Given the description of an element on the screen output the (x, y) to click on. 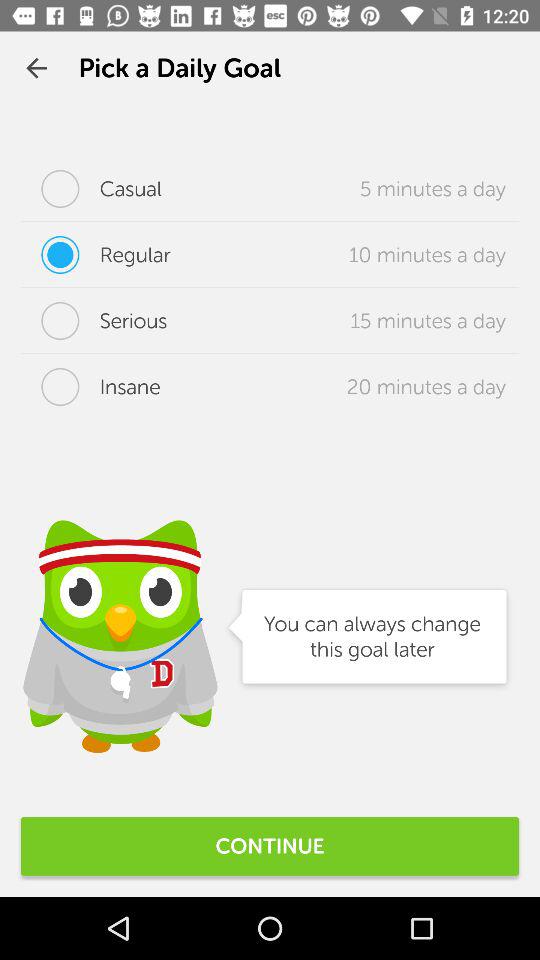
turn off continue icon (270, 846)
